Given the description of an element on the screen output the (x, y) to click on. 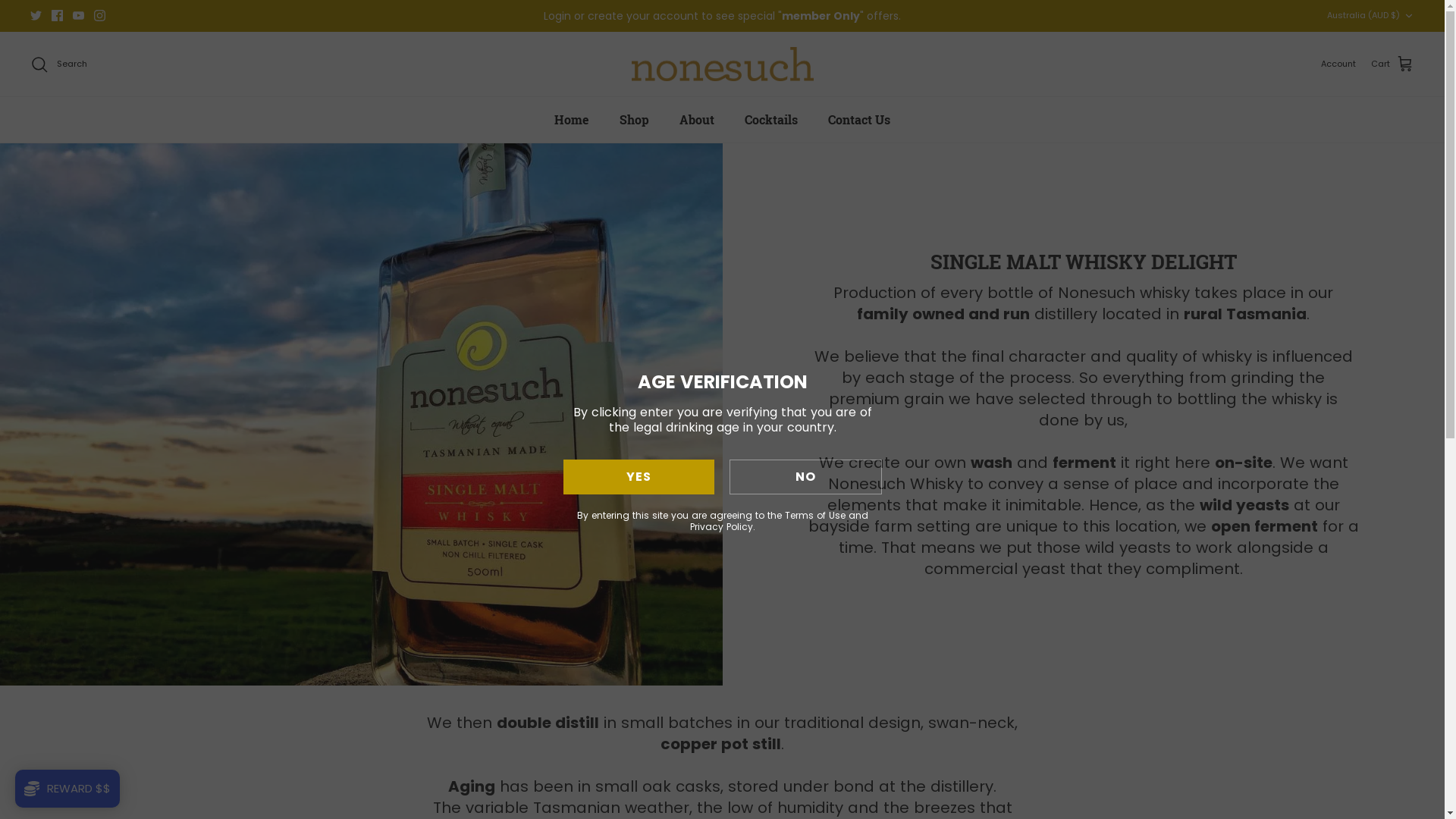
Contact Us Element type: text (858, 119)
Youtube Element type: text (78, 15)
Account Element type: text (1338, 64)
Twitter Element type: text (35, 15)
Search Element type: text (58, 64)
REWARD $$ Element type: text (67, 788)
About Element type: text (696, 119)
Cart Element type: text (1392, 64)
Nonesuch Distillery Element type: hover (721, 64)
Shop Element type: text (633, 119)
Cocktails Element type: text (771, 119)
Instagram Element type: text (99, 15)
Facebook Element type: text (56, 15)
Home Element type: text (571, 119)
Australia (AUD $)
Down Element type: text (1370, 15)
